Given the description of an element on the screen output the (x, y) to click on. 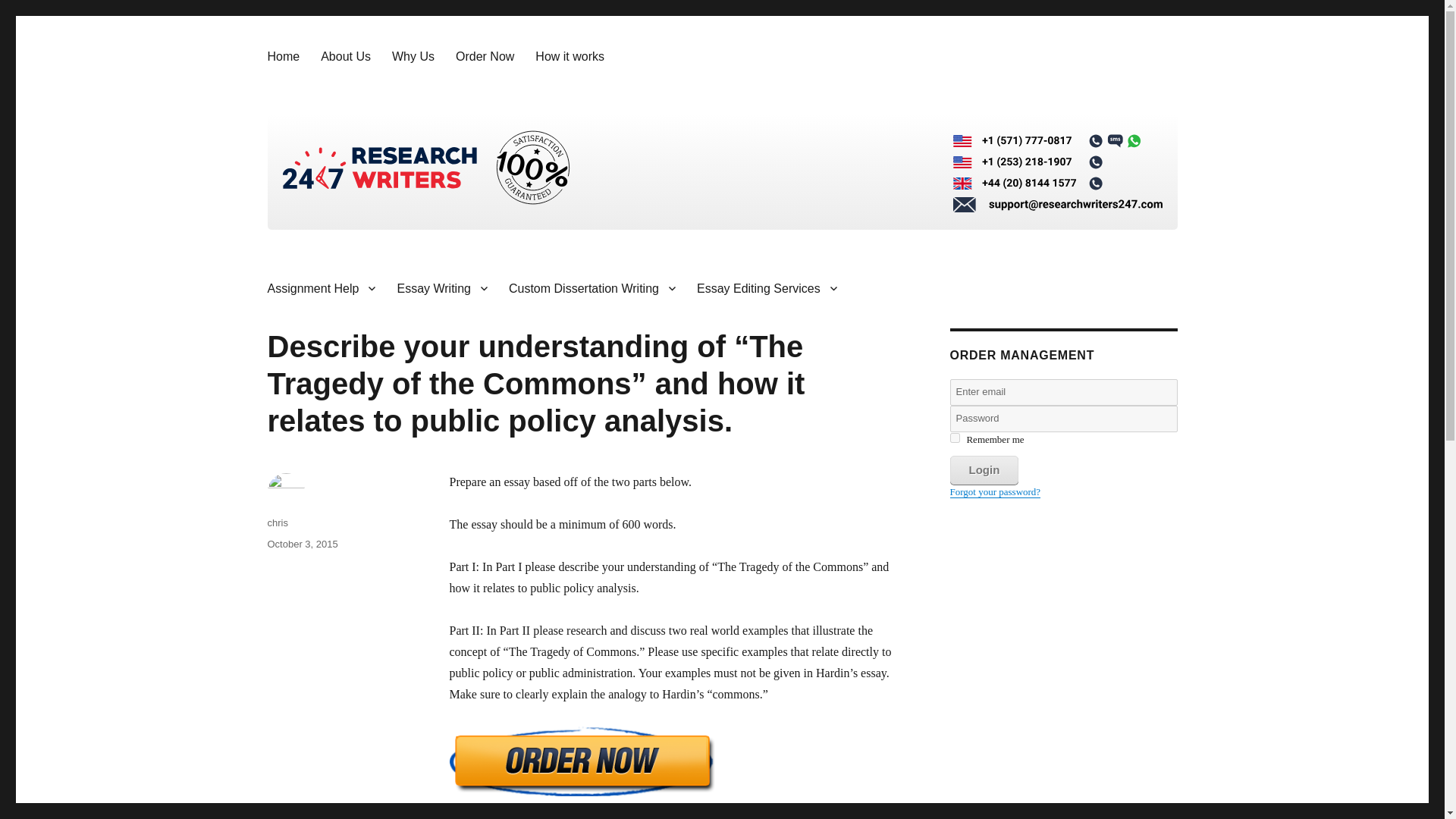
Essay Editing Services (766, 287)
Custom Dissertation Writing (591, 287)
on (954, 438)
Click to Order (676, 772)
About Us (345, 56)
Essay Writing (441, 287)
Assignment Help (320, 287)
Why Us (413, 56)
How it works (569, 56)
click to Login (983, 469)
